Given the description of an element on the screen output the (x, y) to click on. 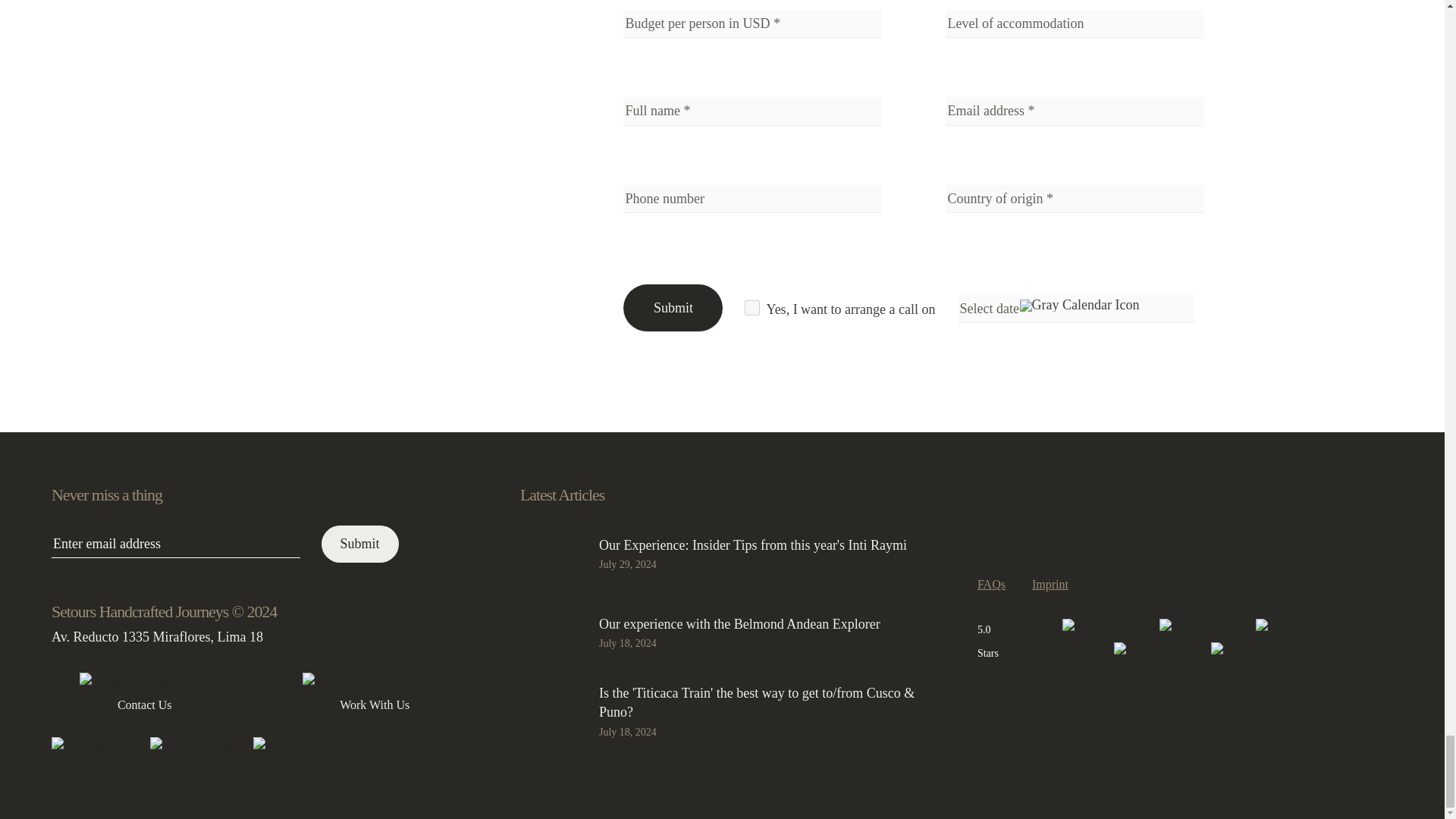
Submit (672, 308)
Submit (359, 544)
1 (752, 307)
